Given the description of an element on the screen output the (x, y) to click on. 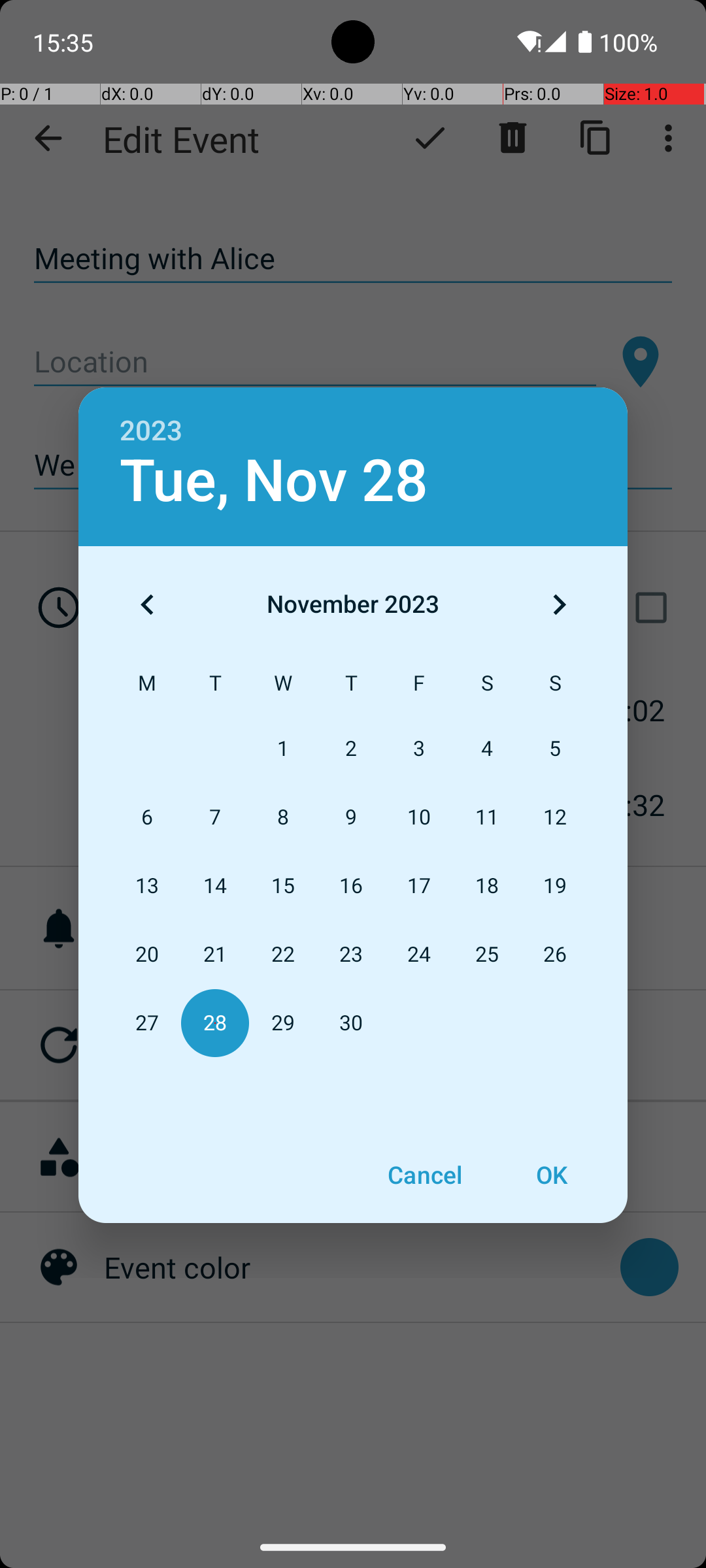
Tue, Nov 28 Element type: android.widget.TextView (273, 480)
